Given the description of an element on the screen output the (x, y) to click on. 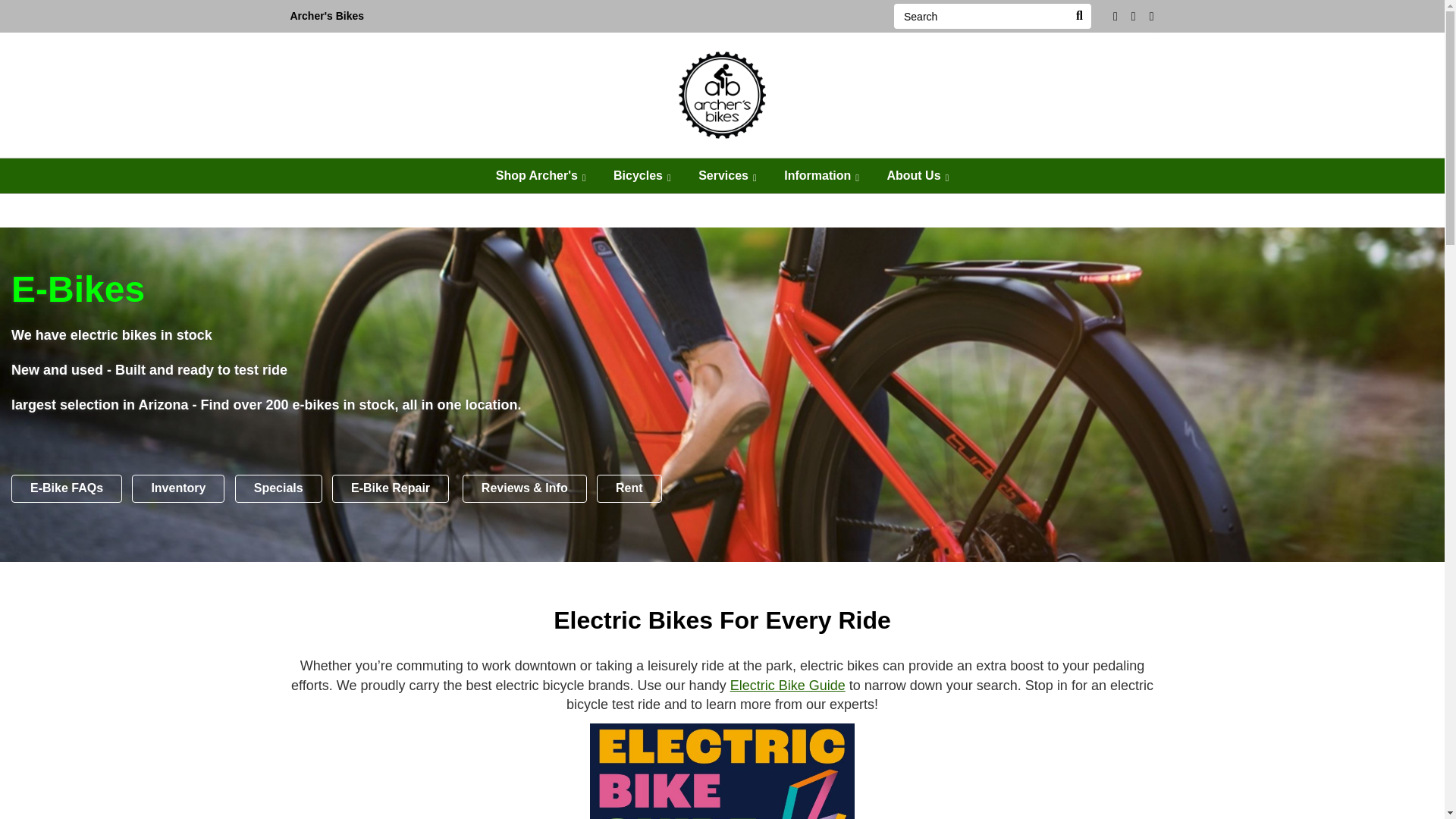
Archer's Bikes Home Page (326, 16)
Shop Archer's (540, 175)
Electric Bike Guide (721, 771)
Get Your E-Bike Fixed (389, 488)
Search (1078, 16)
Archer's Bikes Home Page (722, 93)
Rent (629, 488)
E-Bike Inventory (178, 488)
Search (980, 16)
Archer's Bikes (326, 16)
